Given the description of an element on the screen output the (x, y) to click on. 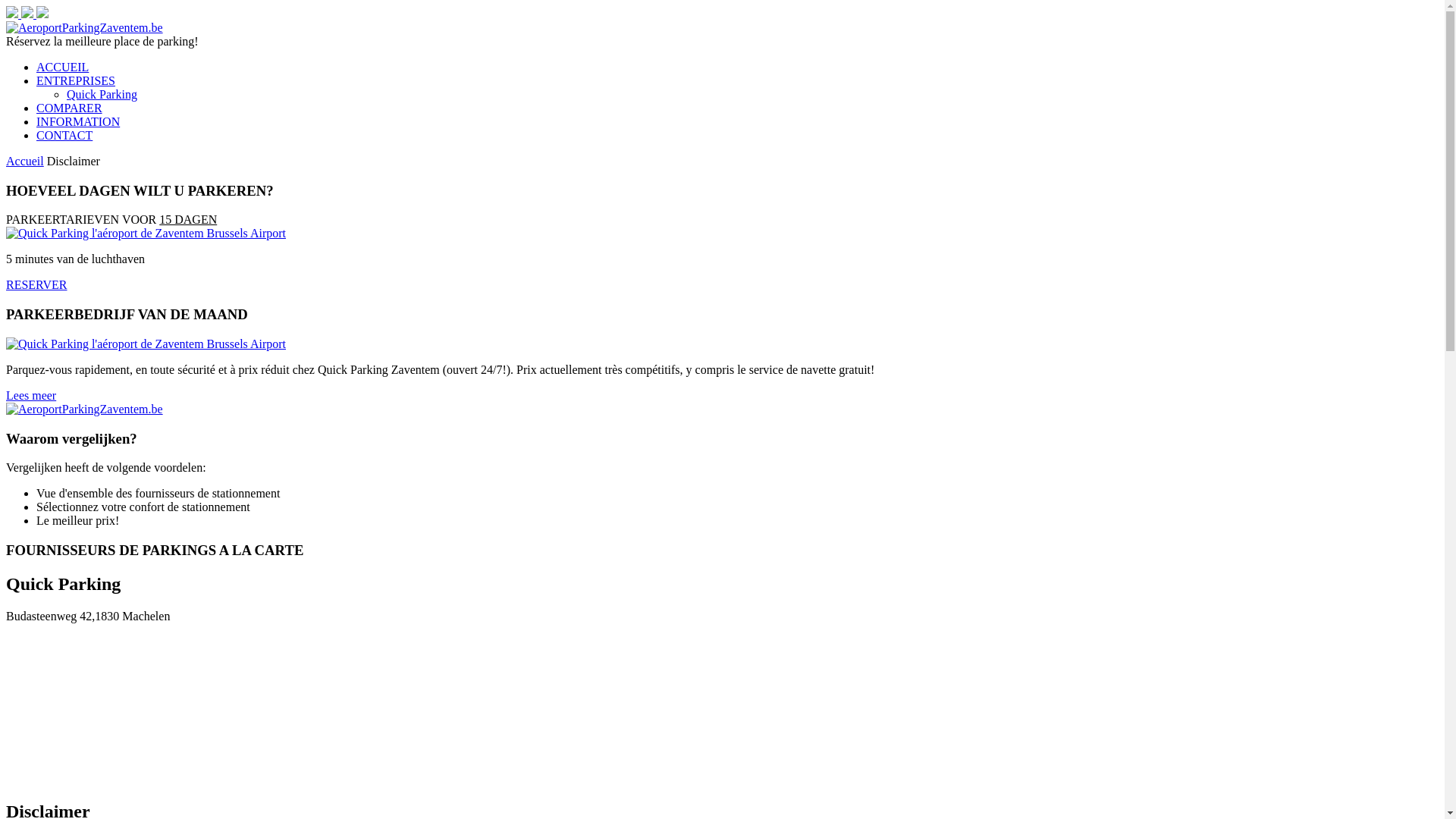
Quick Parking Element type: hover (145, 232)
Quick Parking Element type: hover (145, 343)
ACCUEIL Element type: text (62, 66)
INFORMATION Element type: text (77, 121)
Quick Parking Element type: text (101, 93)
RESERVER Element type: text (36, 284)
Lees meer Element type: text (31, 395)
ENTREPRISES Element type: text (75, 80)
Accueil Element type: text (24, 160)
AeroportParkingZaventem.be Element type: hover (84, 27)
CONTACT Element type: text (64, 134)
COMPARER Element type: text (69, 107)
